Given the description of an element on the screen output the (x, y) to click on. 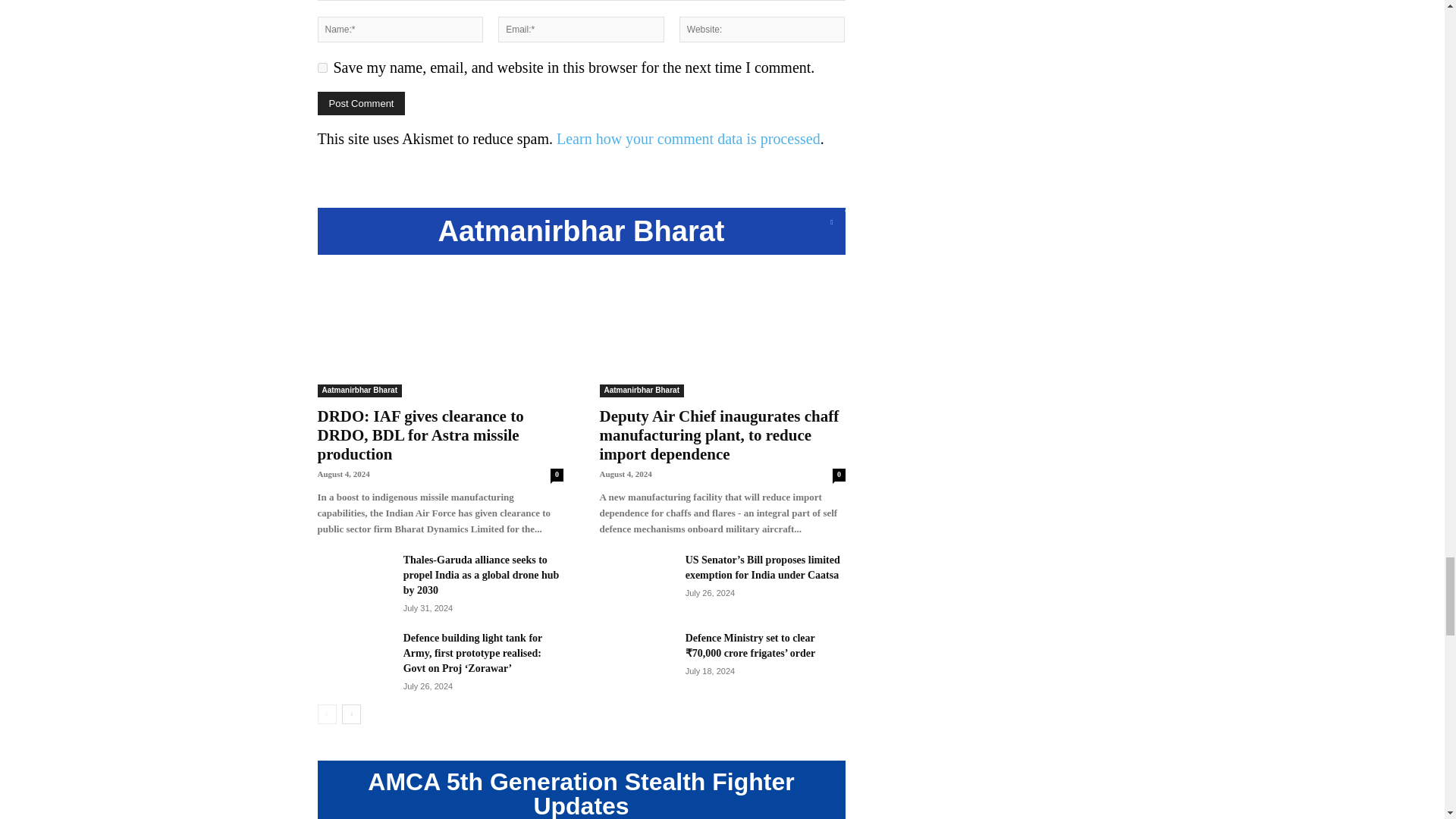
Post Comment (360, 103)
yes (321, 67)
